Given the description of an element on the screen output the (x, y) to click on. 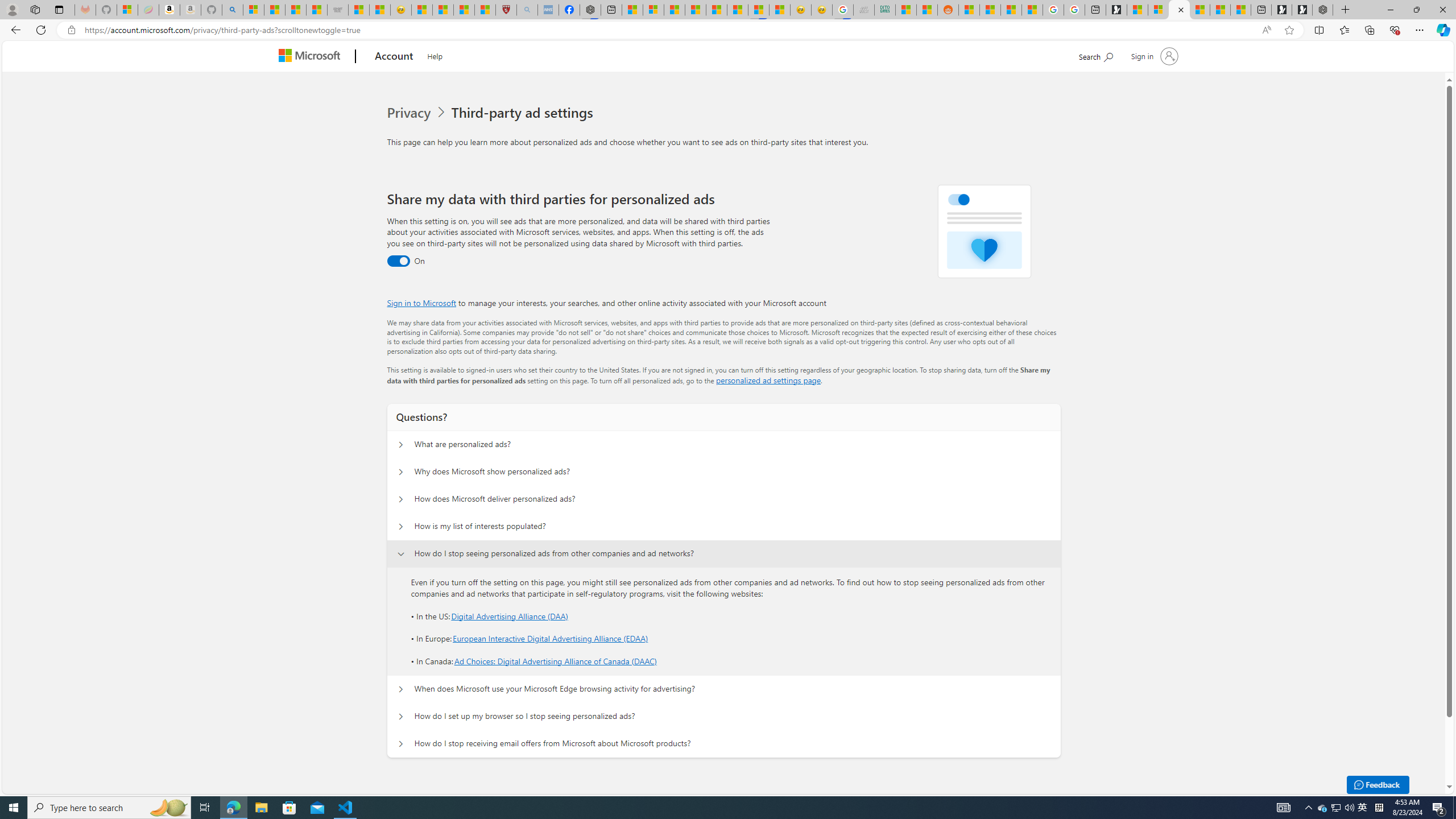
These 3 Stocks Pay You More Than 5% to Own Them (1240, 9)
Recipes - MSN (421, 9)
R******* | Trusted Community Engagement and Contributions (968, 9)
Stocks - MSN (316, 9)
Account (394, 56)
Digital Advertising Alliance (DAA) (509, 615)
14 Common Myths Debunked By Scientific Facts (716, 9)
